Given the description of an element on the screen output the (x, y) to click on. 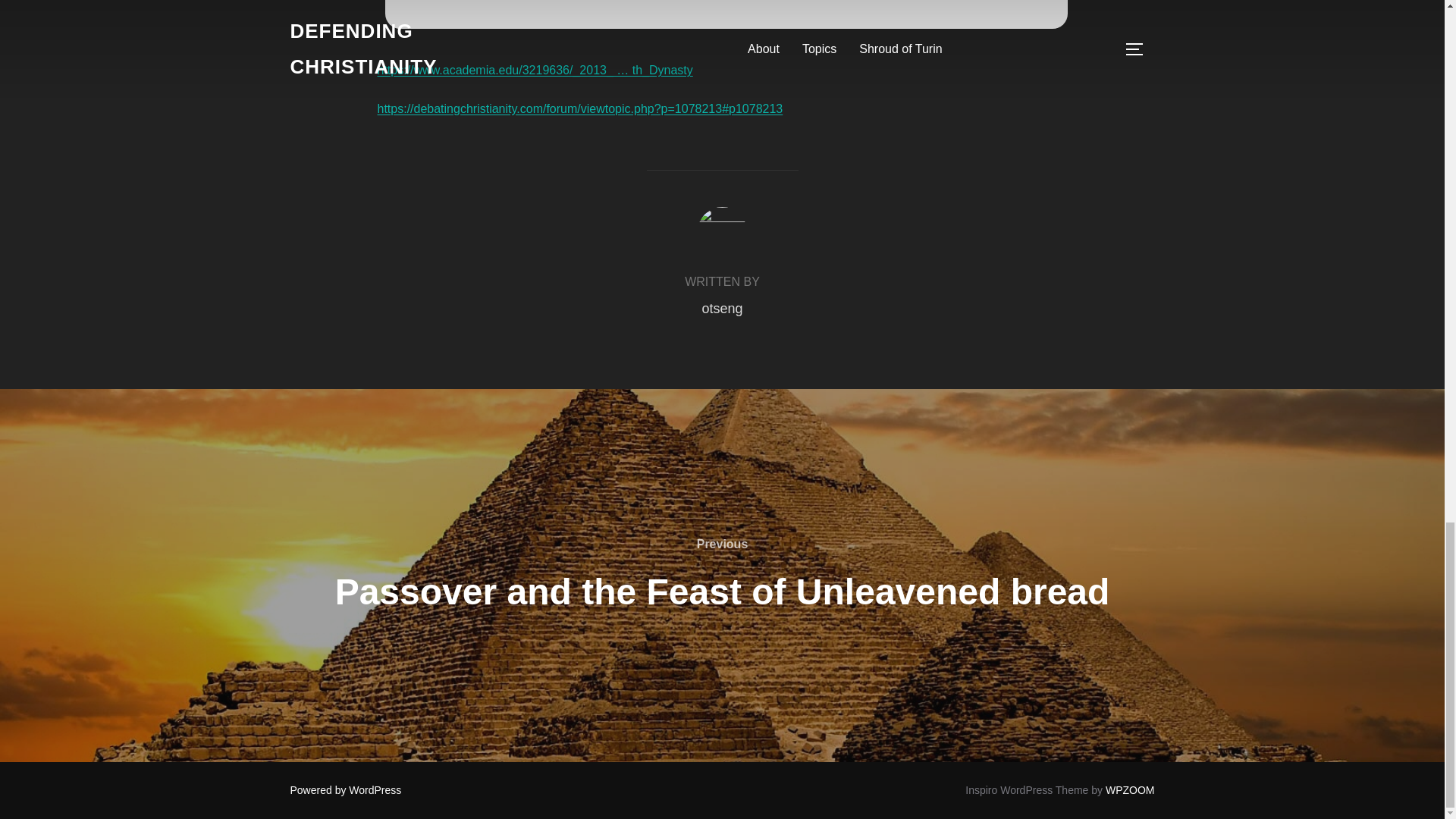
Powered by WordPress (345, 789)
Posts by otseng (721, 308)
otseng (721, 308)
WPZOOM (1129, 789)
